Given the description of an element on the screen output the (x, y) to click on. 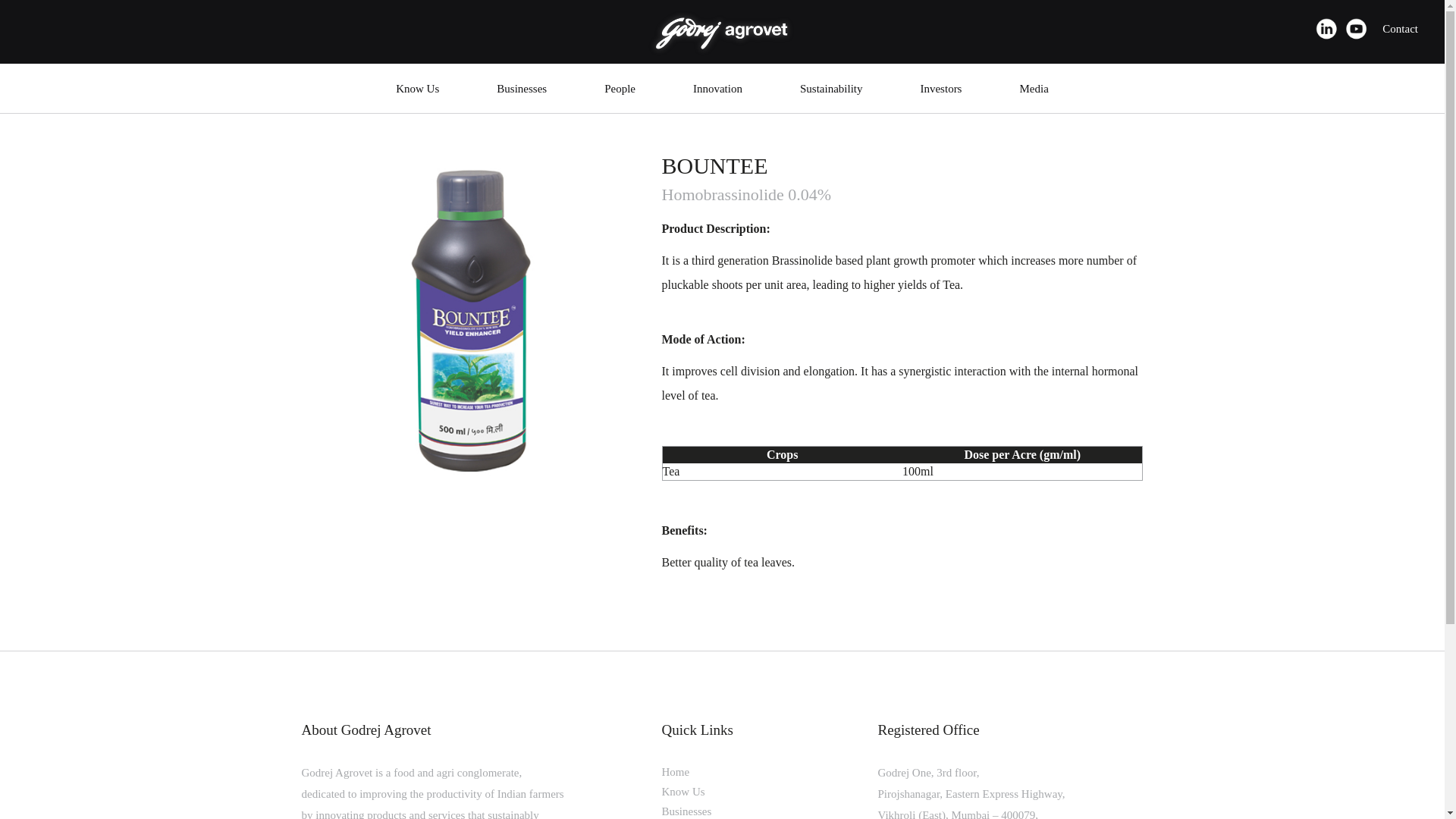
People (619, 90)
Businesses (520, 90)
Know Us (416, 90)
Contact (1399, 29)
